Given the description of an element on the screen output the (x, y) to click on. 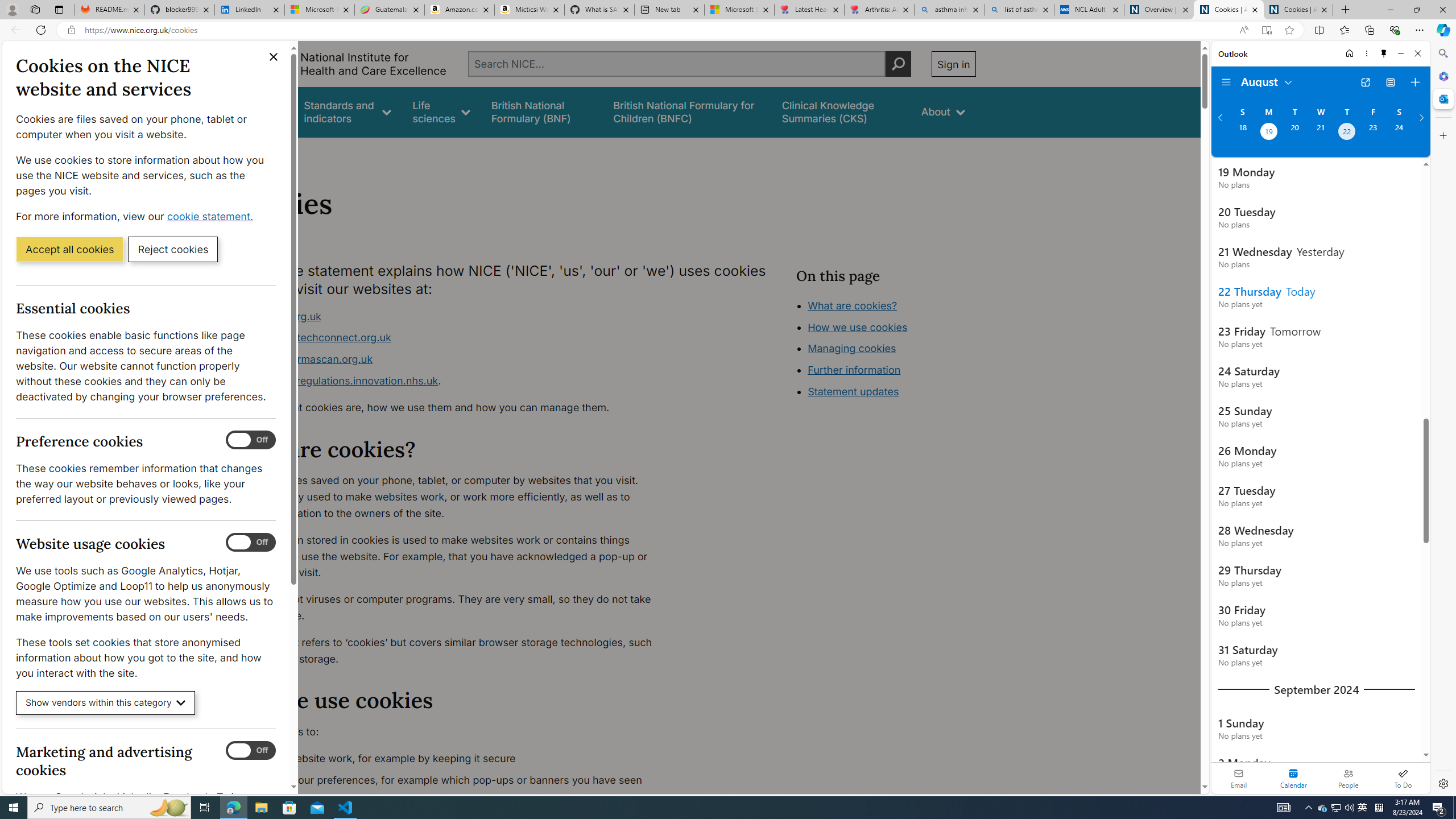
Statement updates (853, 391)
Marketing and advertising cookies (250, 750)
People (1347, 777)
British National Formulary for Children (BNFC) (686, 111)
Friday, August 23, 2024.  (1372, 132)
Accept all cookies (69, 248)
list of asthma inhalers uk - Search (1018, 9)
